Given the description of an element on the screen output the (x, y) to click on. 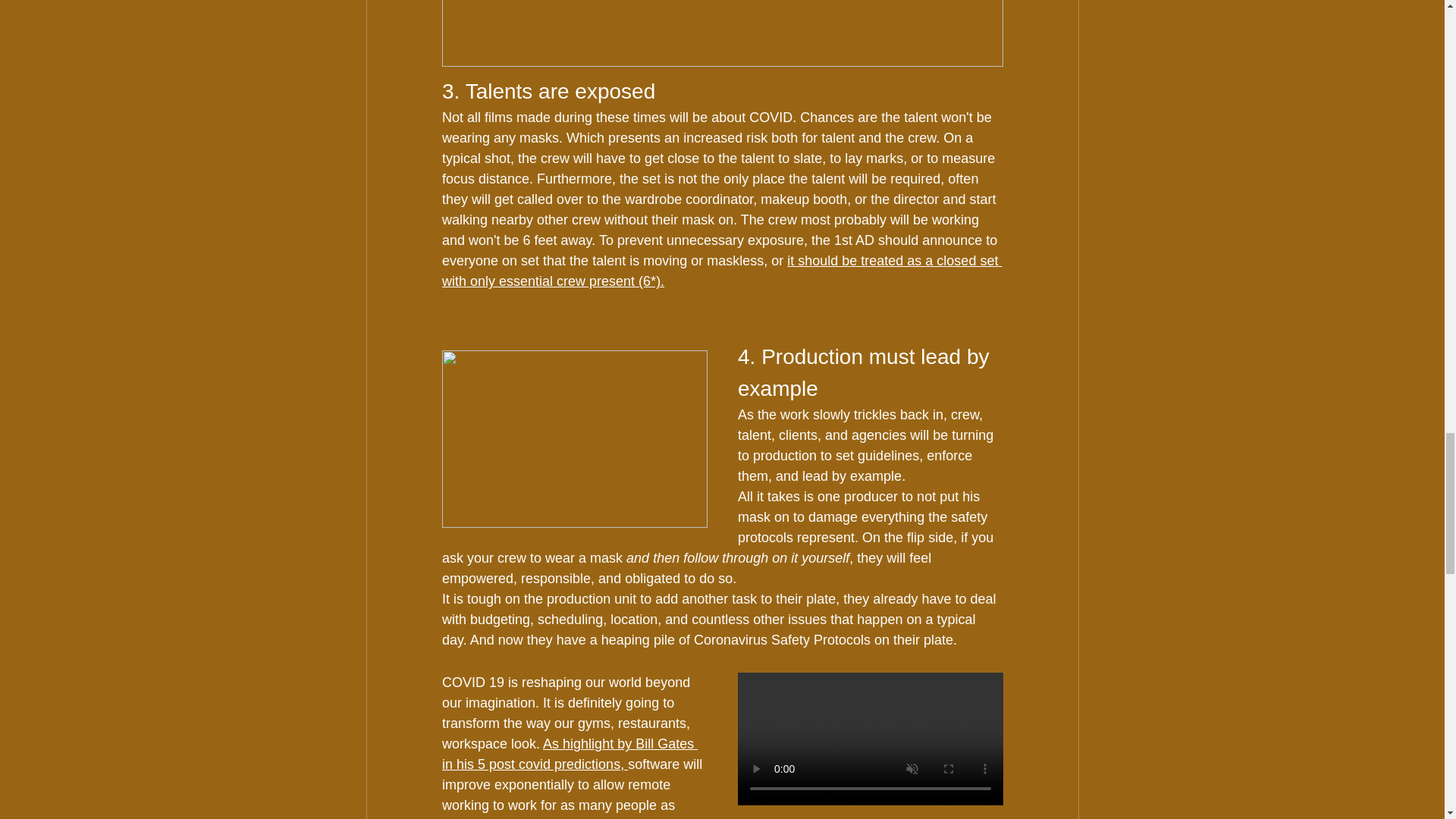
As highlight by Bill Gates in his 5 post covid predictions (569, 754)
